Given the description of an element on the screen output the (x, y) to click on. 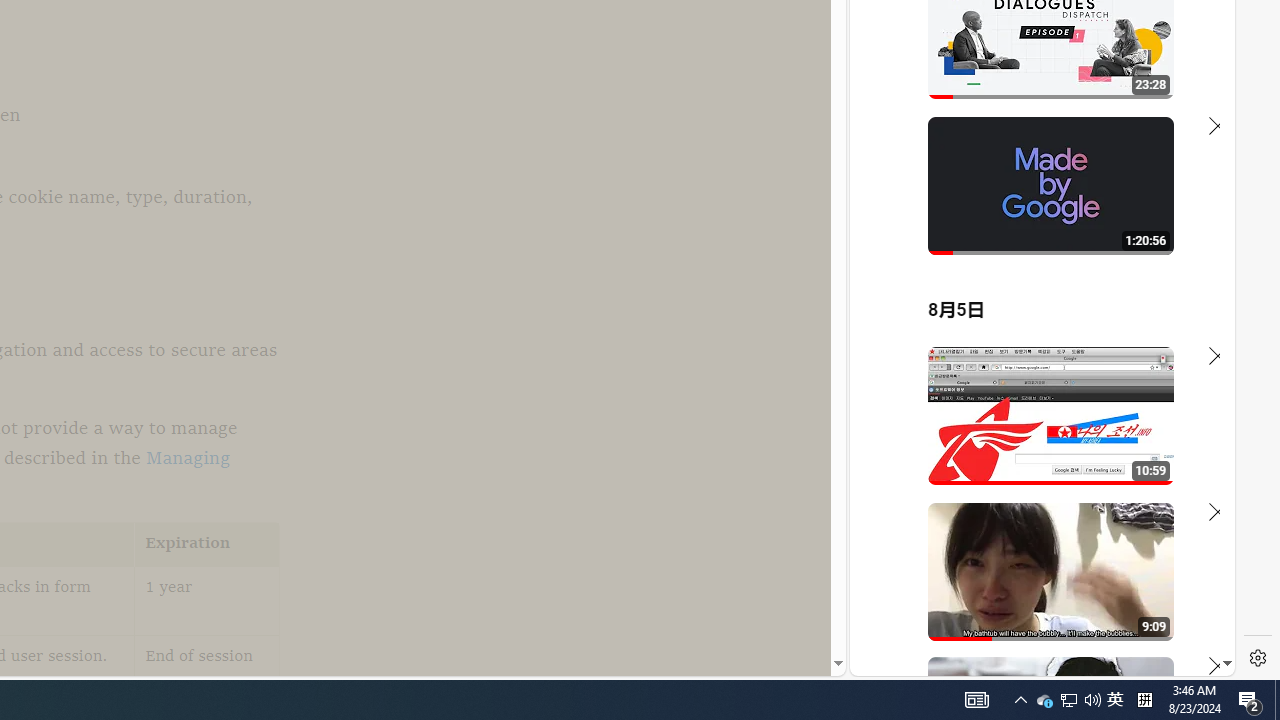
YouTube (1034, 432)
you (1034, 609)
YouTube - YouTube (1034, 266)
Click to scroll right (1196, 83)
#you (1034, 439)
End of session (207, 669)
Expiration (207, 544)
Actions for this site (1131, 443)
US[ju] (917, 660)
Class: dict_pnIcon rms_img (1028, 660)
